Given the description of an element on the screen output the (x, y) to click on. 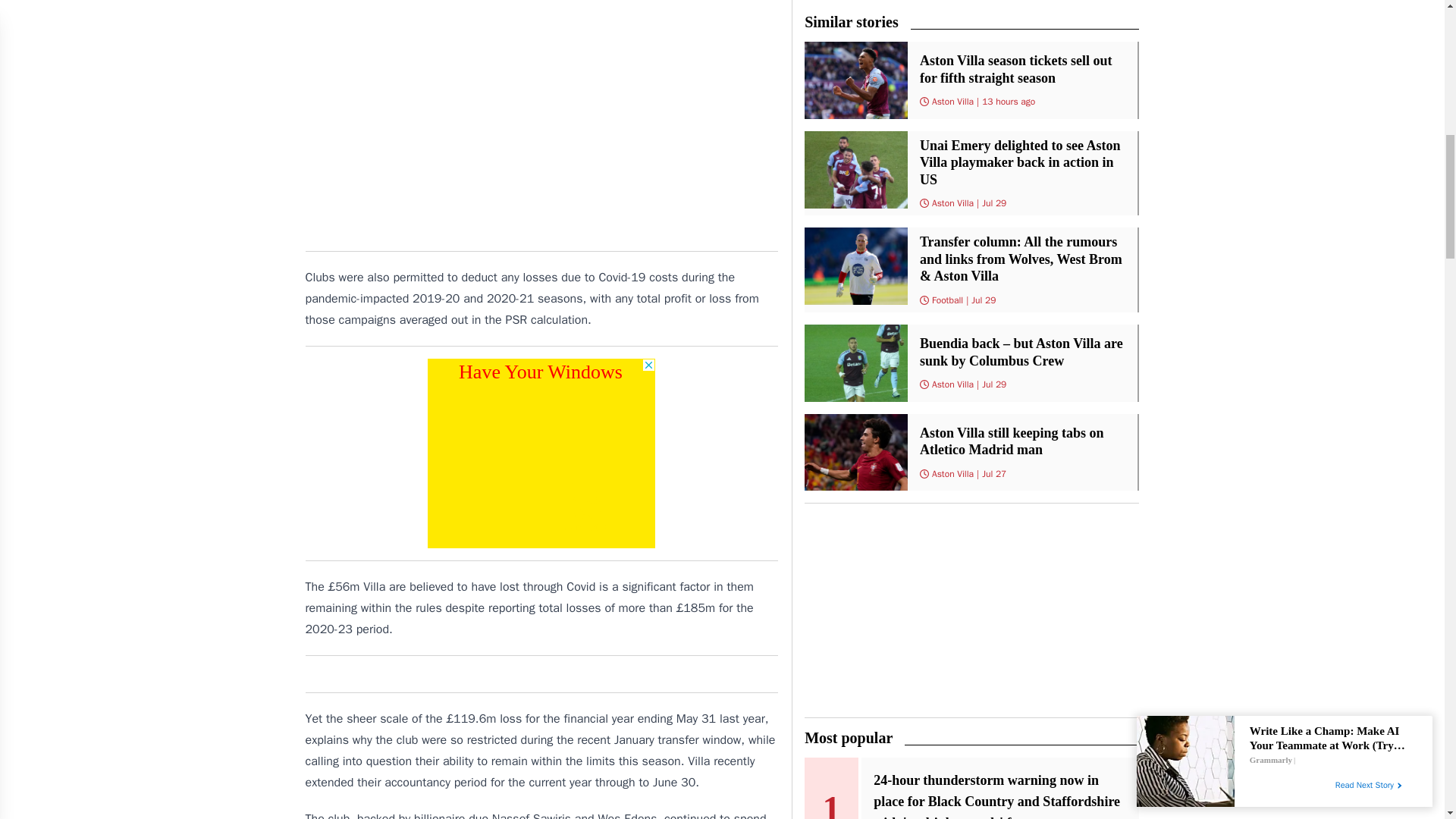
3rd party ad content (541, 452)
